Given the description of an element on the screen output the (x, y) to click on. 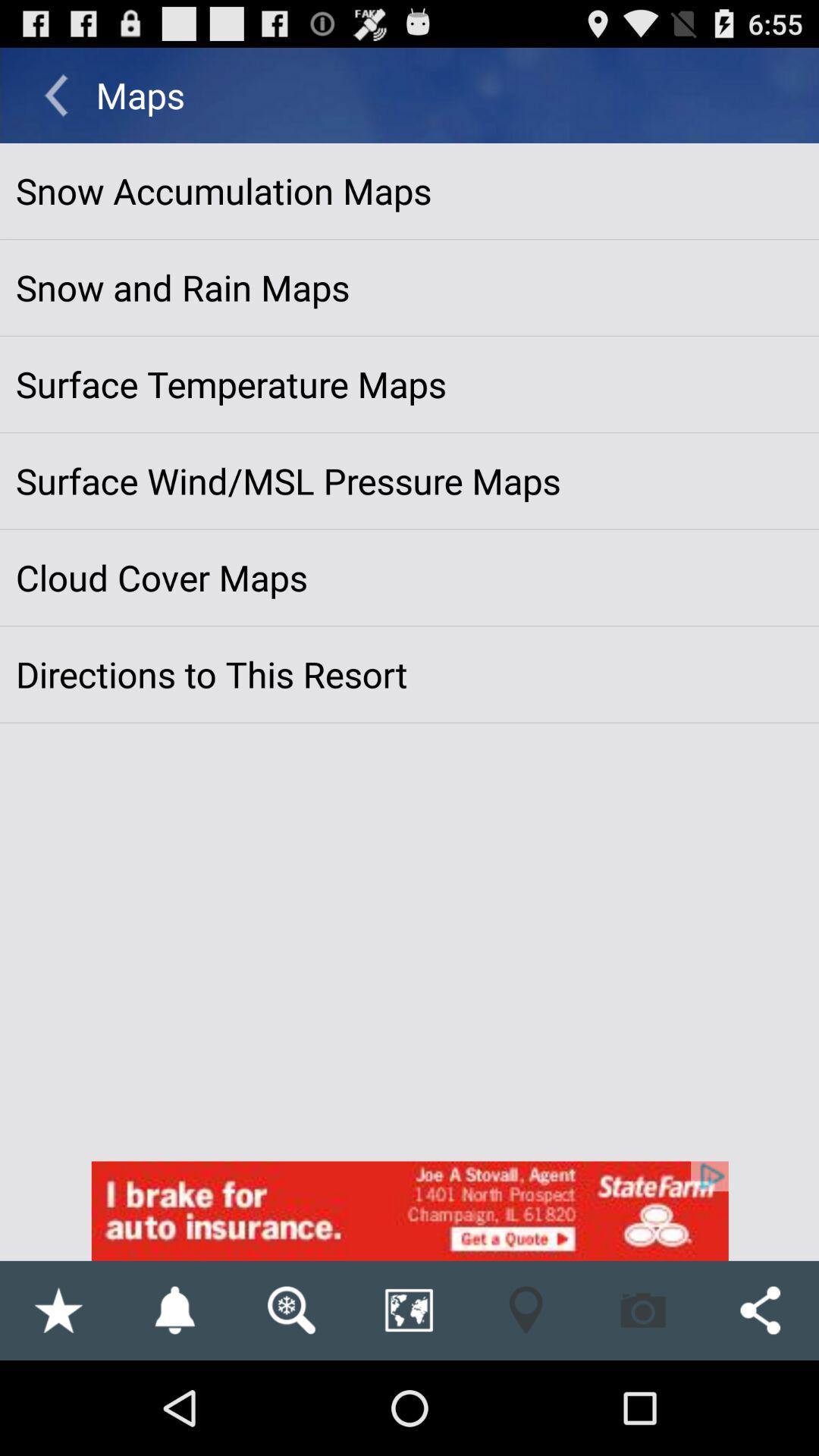
show notifications (174, 1310)
